Given the description of an element on the screen output the (x, y) to click on. 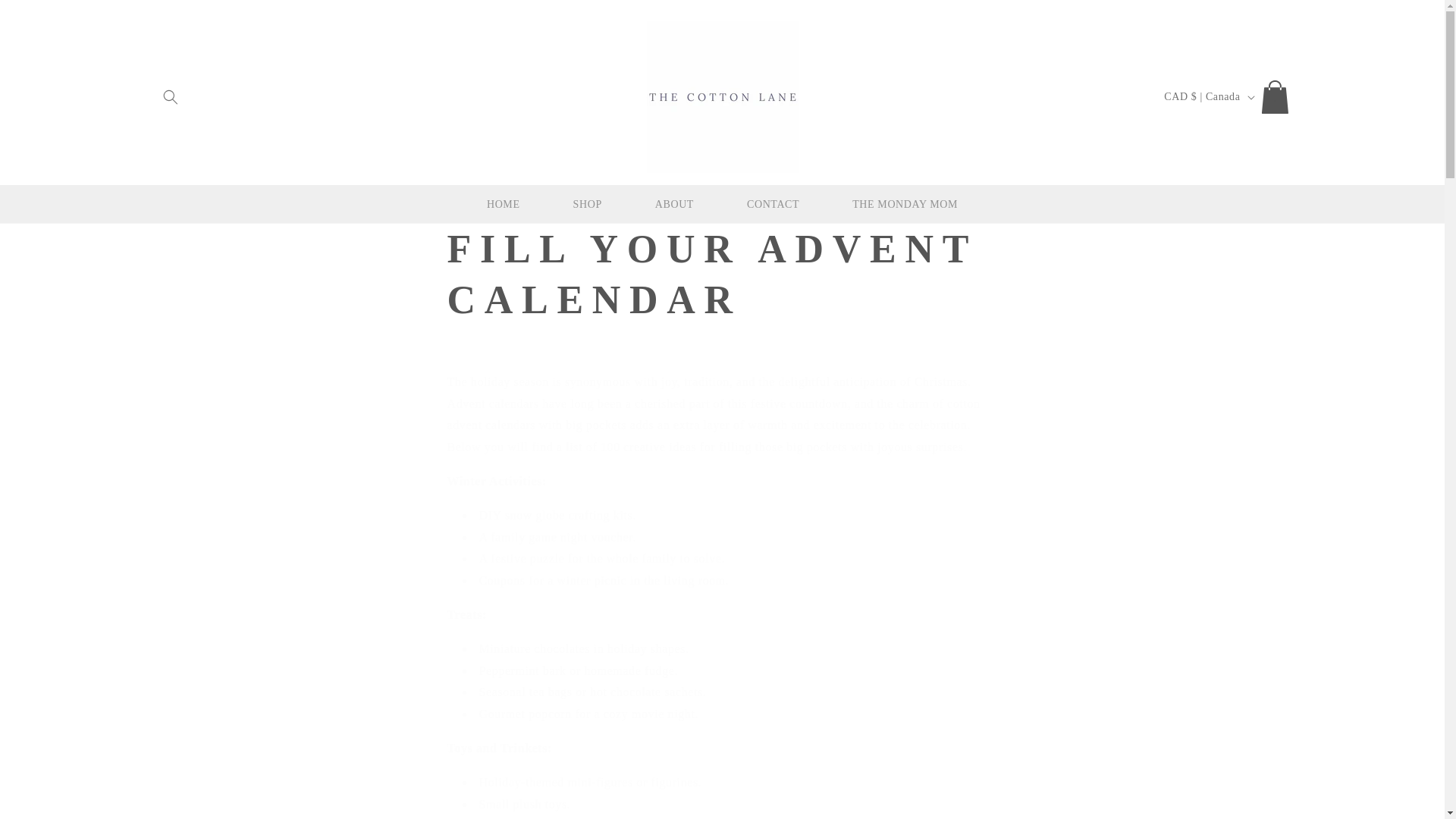
SKIP TO CONTENT (45, 16)
0 (1276, 96)
FILL YOUR ADVENT CALENDAR (721, 274)
THE MONDAY MOM (904, 204)
ABOUT (674, 204)
SHOP (587, 204)
HOME (503, 204)
CONTACT (772, 204)
Instagram (1225, 96)
0 (1277, 96)
